Given the description of an element on the screen output the (x, y) to click on. 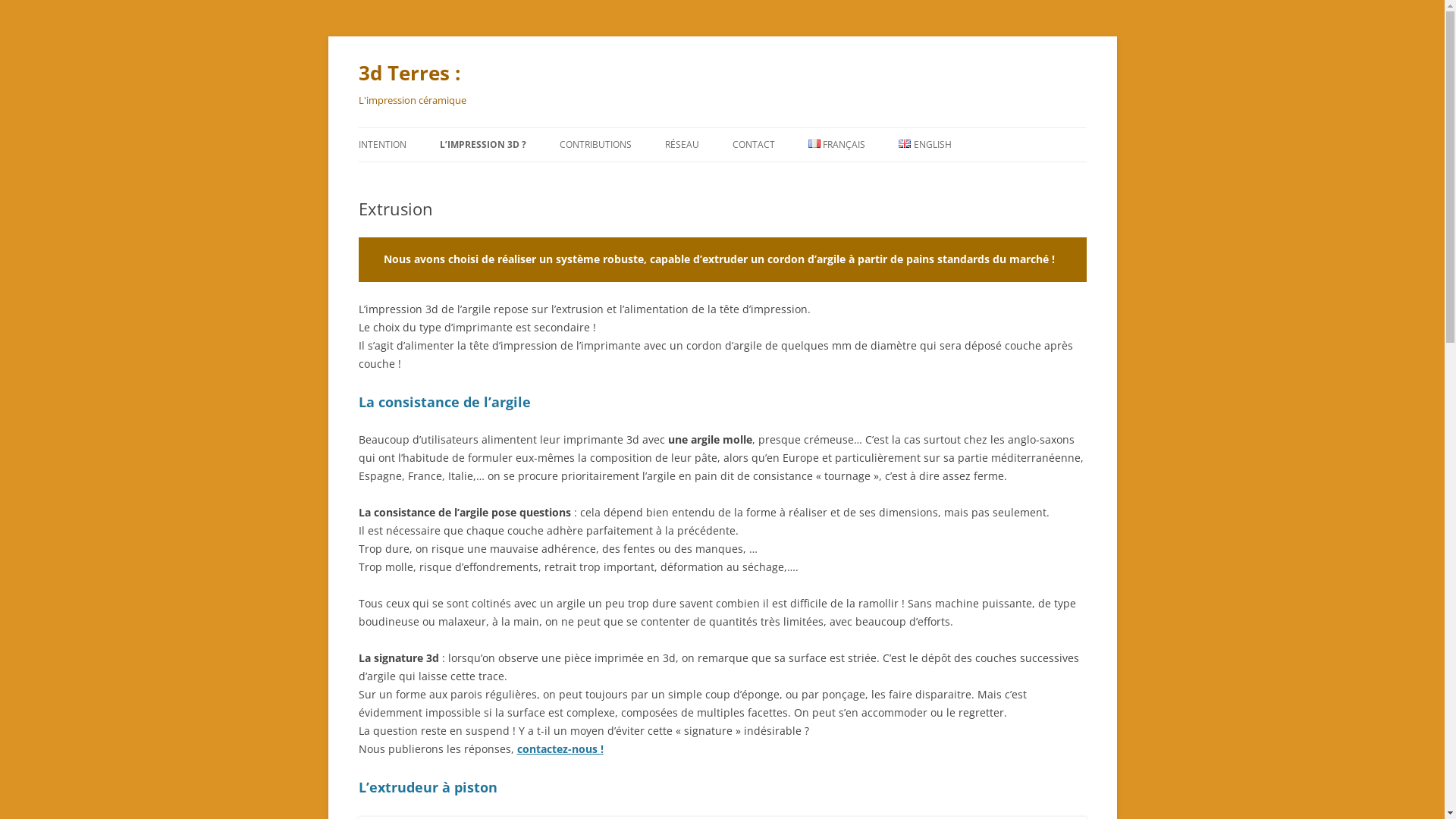
ENGLISH Element type: text (924, 144)
3d Terres : Element type: text (408, 72)
CONTACT Element type: text (753, 144)
contactez-nous ! Element type: text (560, 748)
Aller au contenu Element type: text (721, 127)
INTENTION Element type: text (381, 144)
CONTRIBUTIONS Element type: text (595, 144)
